Given the description of an element on the screen output the (x, y) to click on. 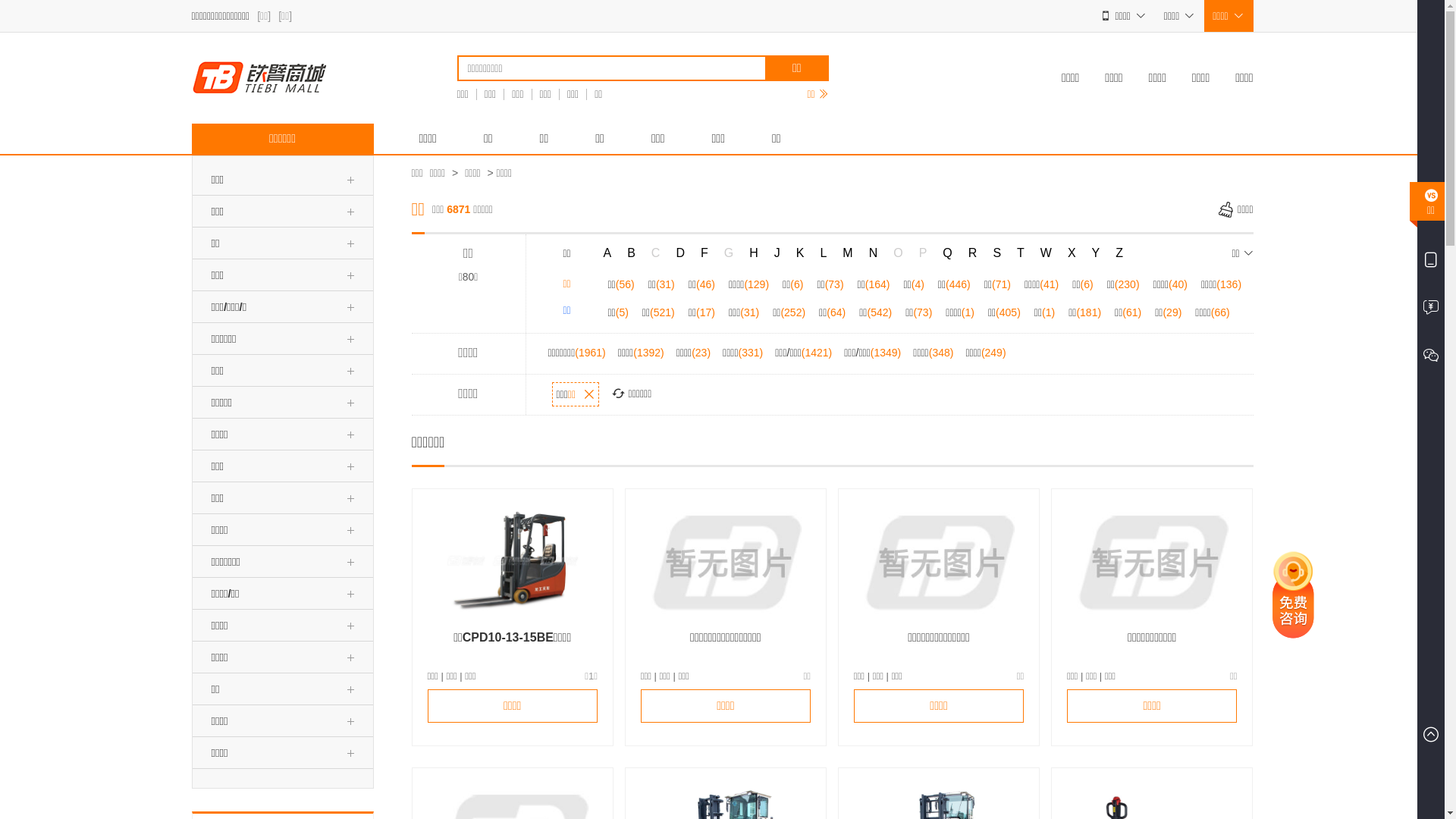
M Element type: text (847, 252)
G Element type: text (728, 252)
P Element type: text (923, 252)
H Element type: text (753, 252)
Q Element type: text (946, 252)
L Element type: text (822, 252)
C Element type: text (655, 252)
T Element type: text (1020, 252)
Y Element type: text (1095, 252)
K Element type: text (800, 252)
N Element type: text (873, 252)
X Element type: text (1071, 252)
W Element type: text (1045, 252)
B Element type: text (631, 252)
F Element type: text (704, 252)
O Element type: text (897, 252)
R Element type: text (972, 252)
S Element type: text (996, 252)
D Element type: text (679, 252)
J Element type: text (777, 252)
A Element type: text (607, 252)
Z Element type: text (1119, 252)
